Given the description of an element on the screen output the (x, y) to click on. 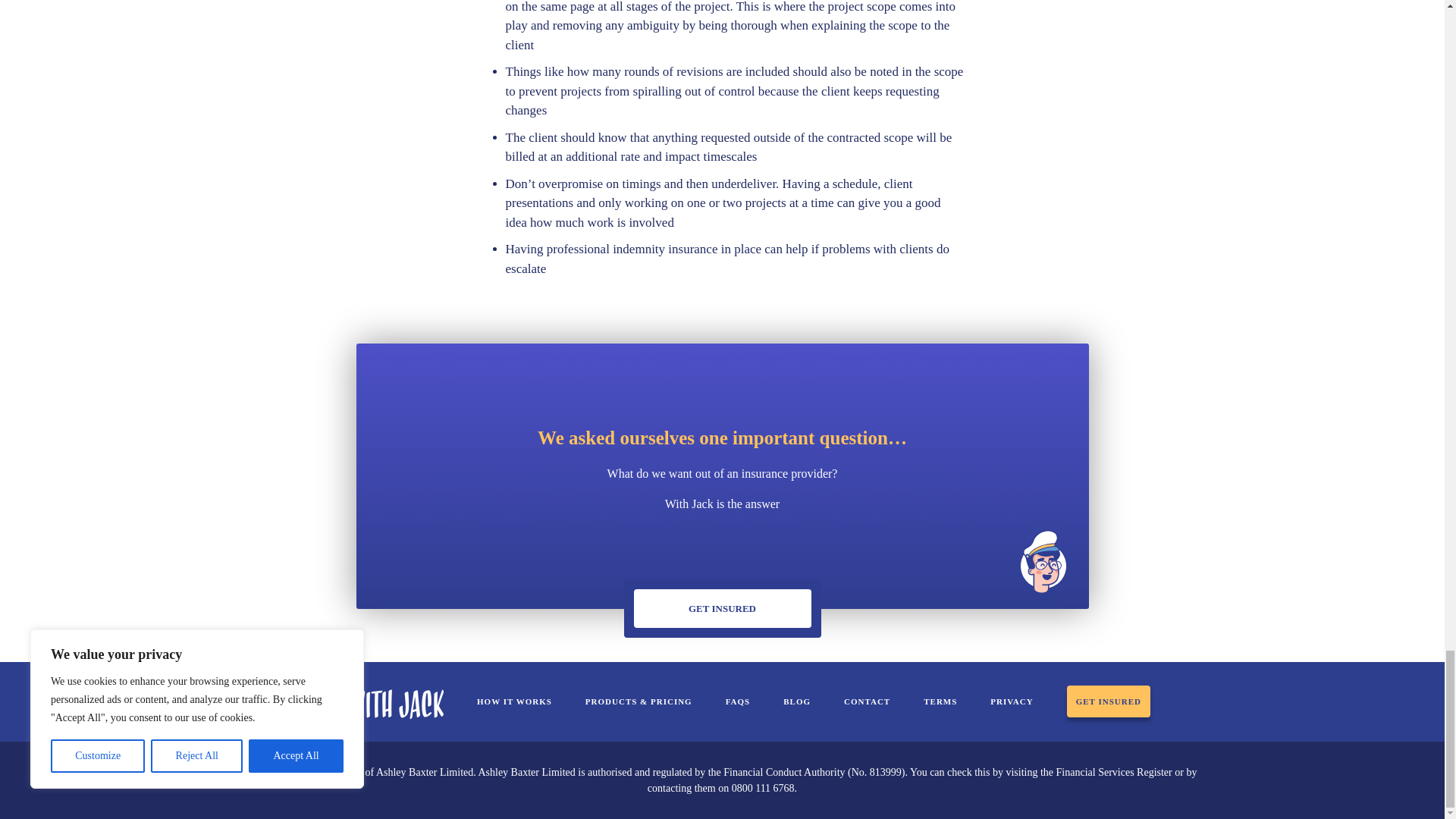
GET INSURED (721, 608)
